Given the description of an element on the screen output the (x, y) to click on. 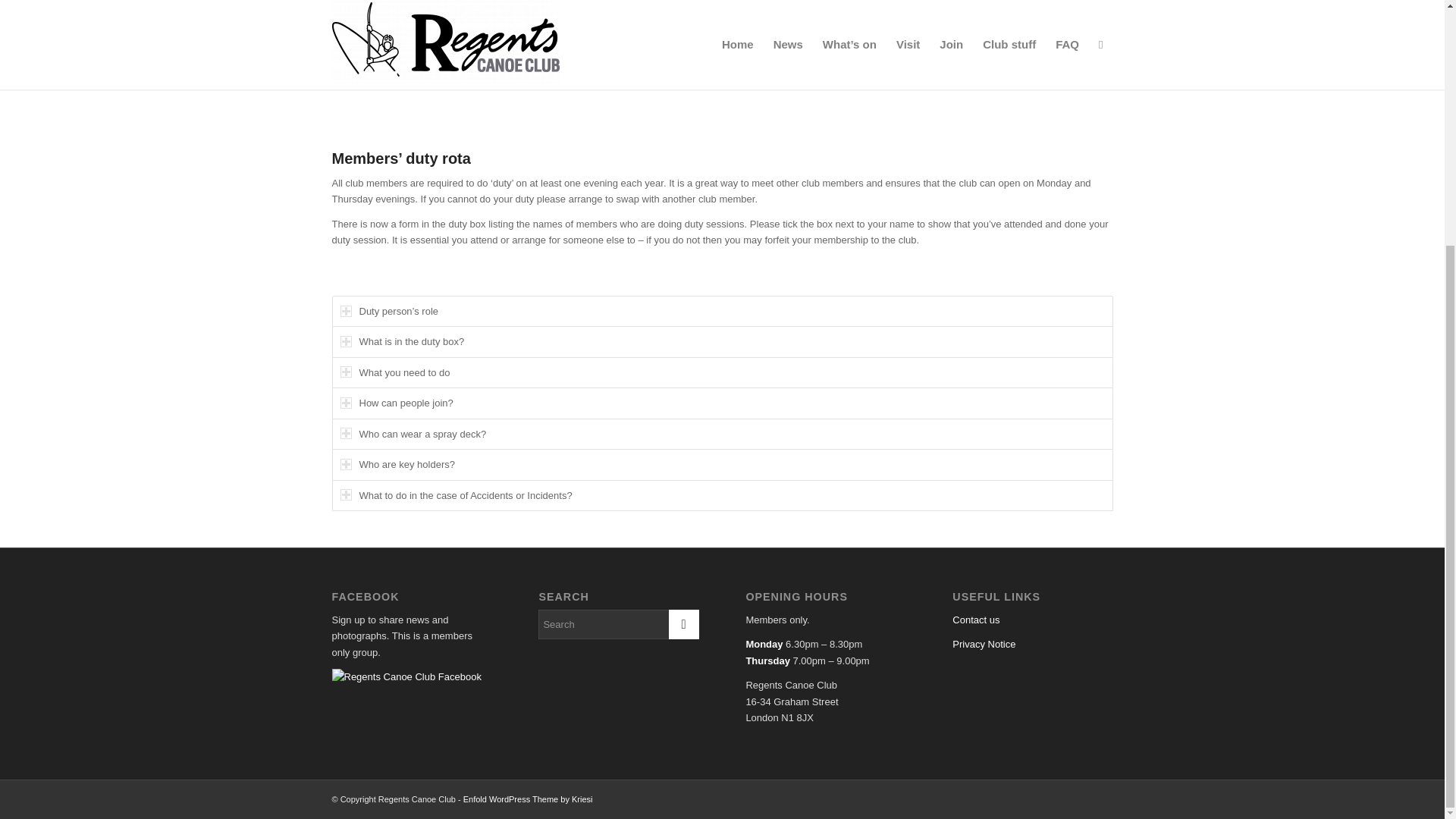
Contact us (975, 619)
Privacy Notice (983, 644)
Enfold WordPress Theme by Kriesi (527, 798)
